Given the description of an element on the screen output the (x, y) to click on. 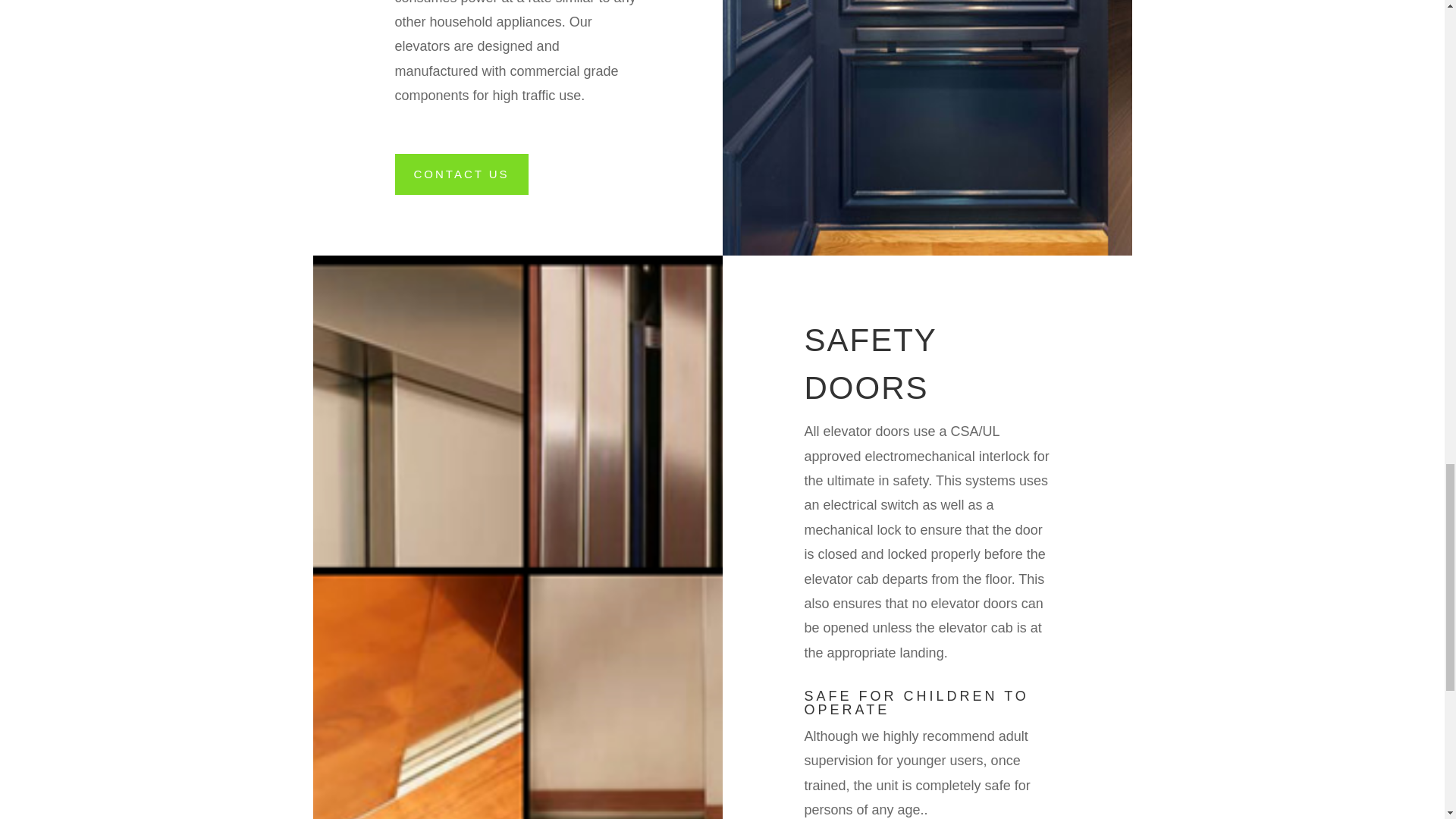
CONTACT US (460, 174)
